Given the description of an element on the screen output the (x, y) to click on. 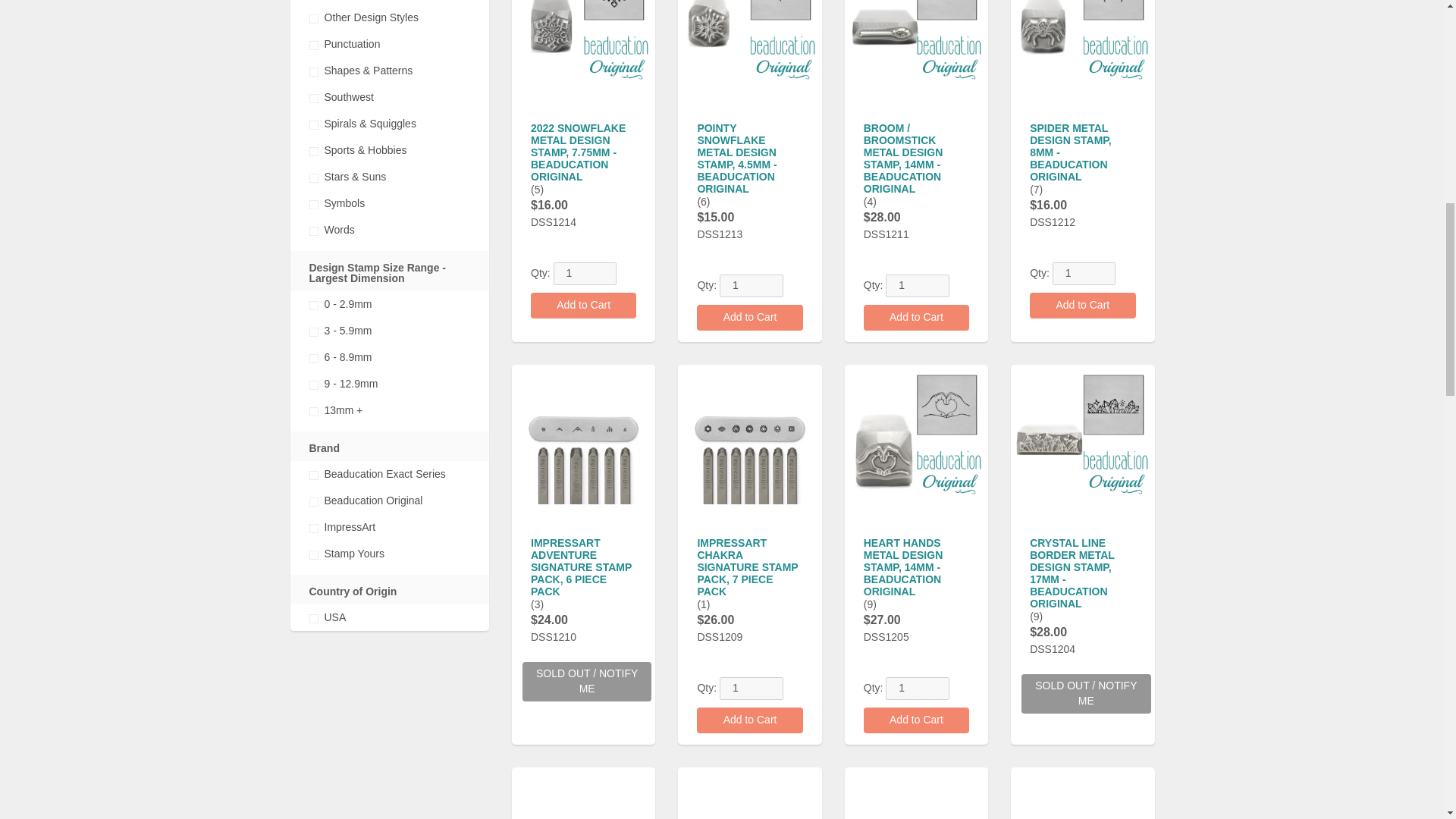
1 (917, 688)
Add to Cart (916, 317)
1 (751, 688)
Add to Cart (749, 720)
1 (751, 285)
1 (1084, 273)
Add to Cart (749, 317)
1 (917, 285)
1 (585, 273)
Add to Cart (1082, 305)
Add to Cart (583, 305)
